Given the description of an element on the screen output the (x, y) to click on. 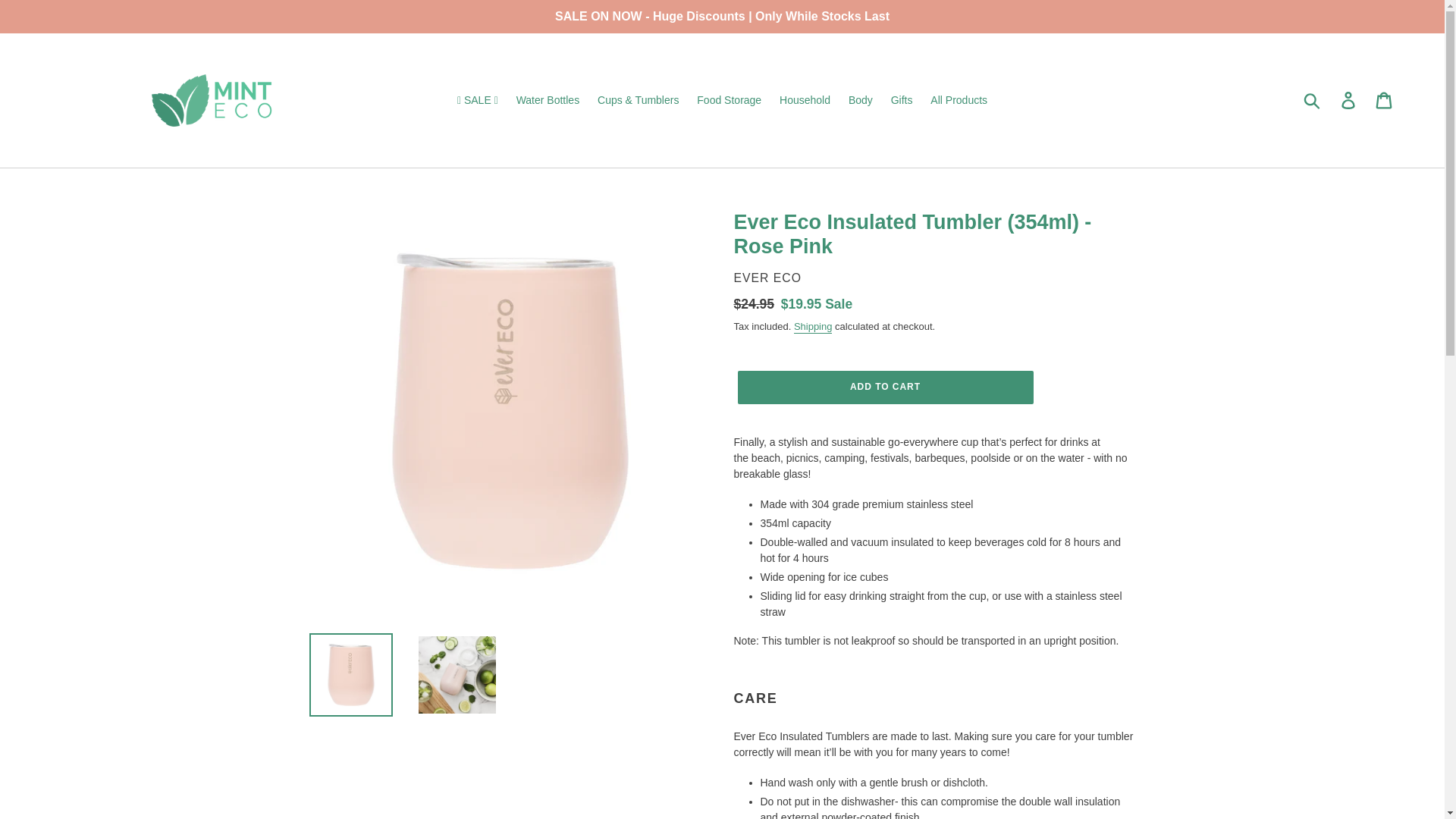
Water Bottles (548, 100)
Cart (1385, 100)
Household (804, 100)
All Products (958, 100)
Gifts (901, 100)
Food Storage (728, 100)
Submit (1313, 100)
Body (860, 100)
Shipping (812, 327)
Log in (1349, 100)
